Given the description of an element on the screen output the (x, y) to click on. 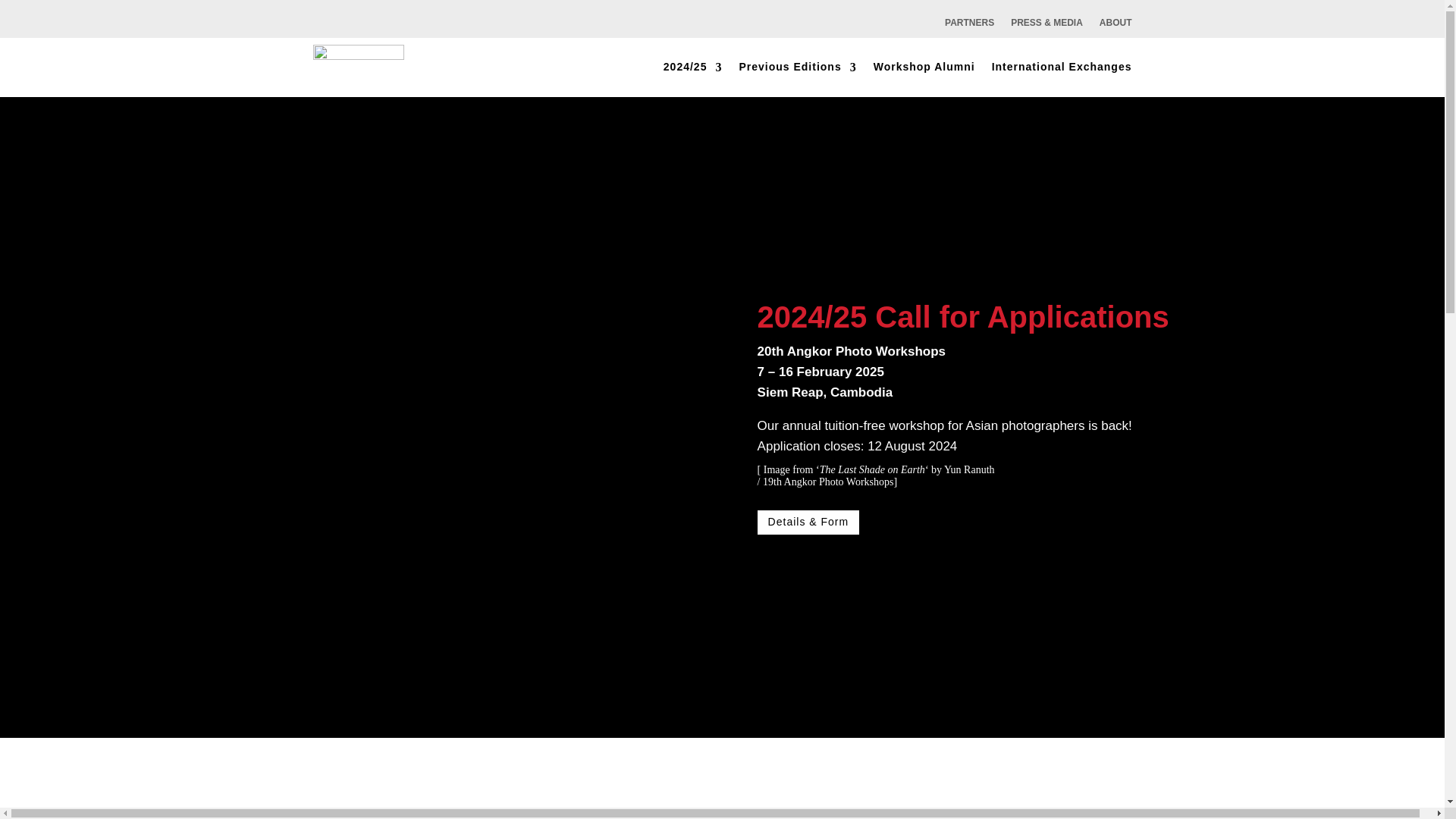
Previous Editions (797, 66)
PARTNERS (969, 33)
ABOUT US (1115, 33)
ABOUT (1115, 33)
